Given the description of an element on the screen output the (x, y) to click on. 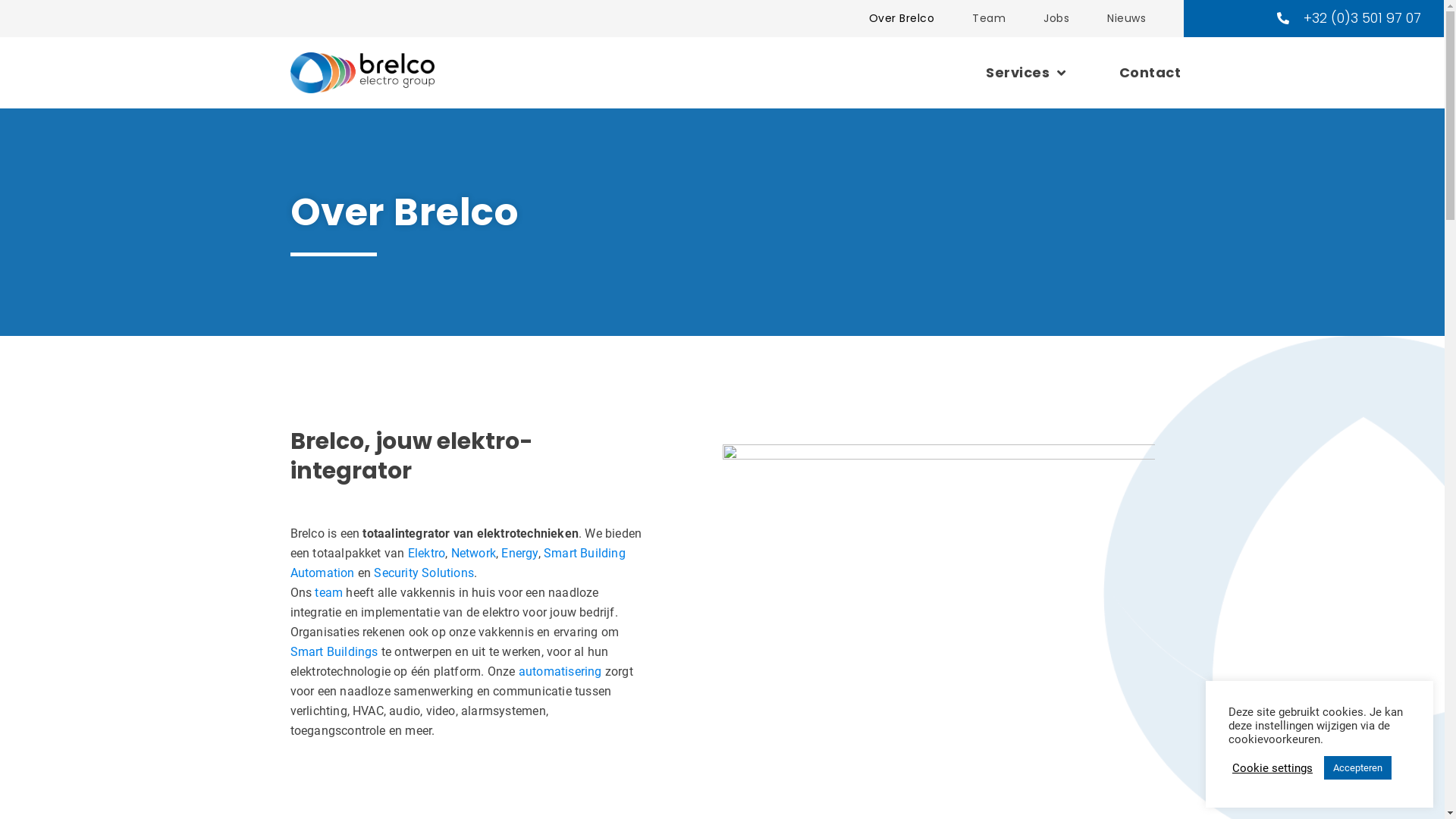
Cookie settings Element type: text (1272, 768)
Security Solutions Element type: text (423, 572)
Nieuws Element type: text (1126, 17)
Network Element type: text (473, 553)
Team Element type: text (988, 17)
Services Element type: text (1025, 72)
+32 (0)3 501 97 07 Element type: text (1347, 18)
Contact Element type: text (1150, 72)
Energy Element type: text (519, 553)
Accepteren Element type: text (1357, 767)
Elektro Element type: text (426, 553)
Over Brelco Element type: text (902, 17)
Jobs Element type: text (1056, 17)
team Element type: text (328, 592)
automatisering Element type: text (560, 671)
Smart Buildings Element type: text (334, 651)
Smart Building Automation Element type: text (456, 563)
